Given the description of an element on the screen output the (x, y) to click on. 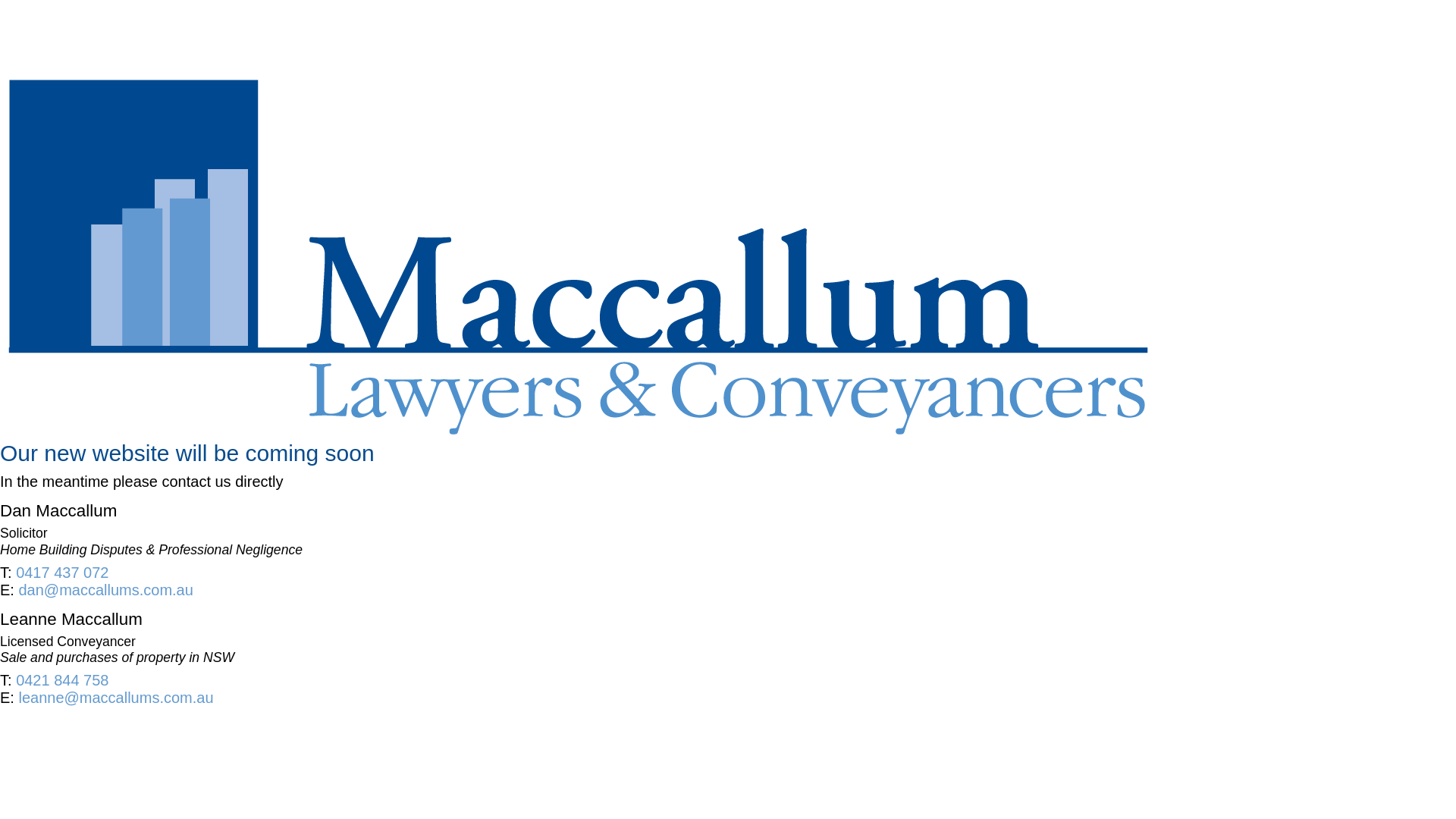
0417 437 072 Element type: text (61, 572)
0421 844 758 Element type: text (61, 679)
leanne@maccallums.com.au Element type: text (115, 697)
dan@maccallums.com.au Element type: text (105, 589)
